Given the description of an element on the screen output the (x, y) to click on. 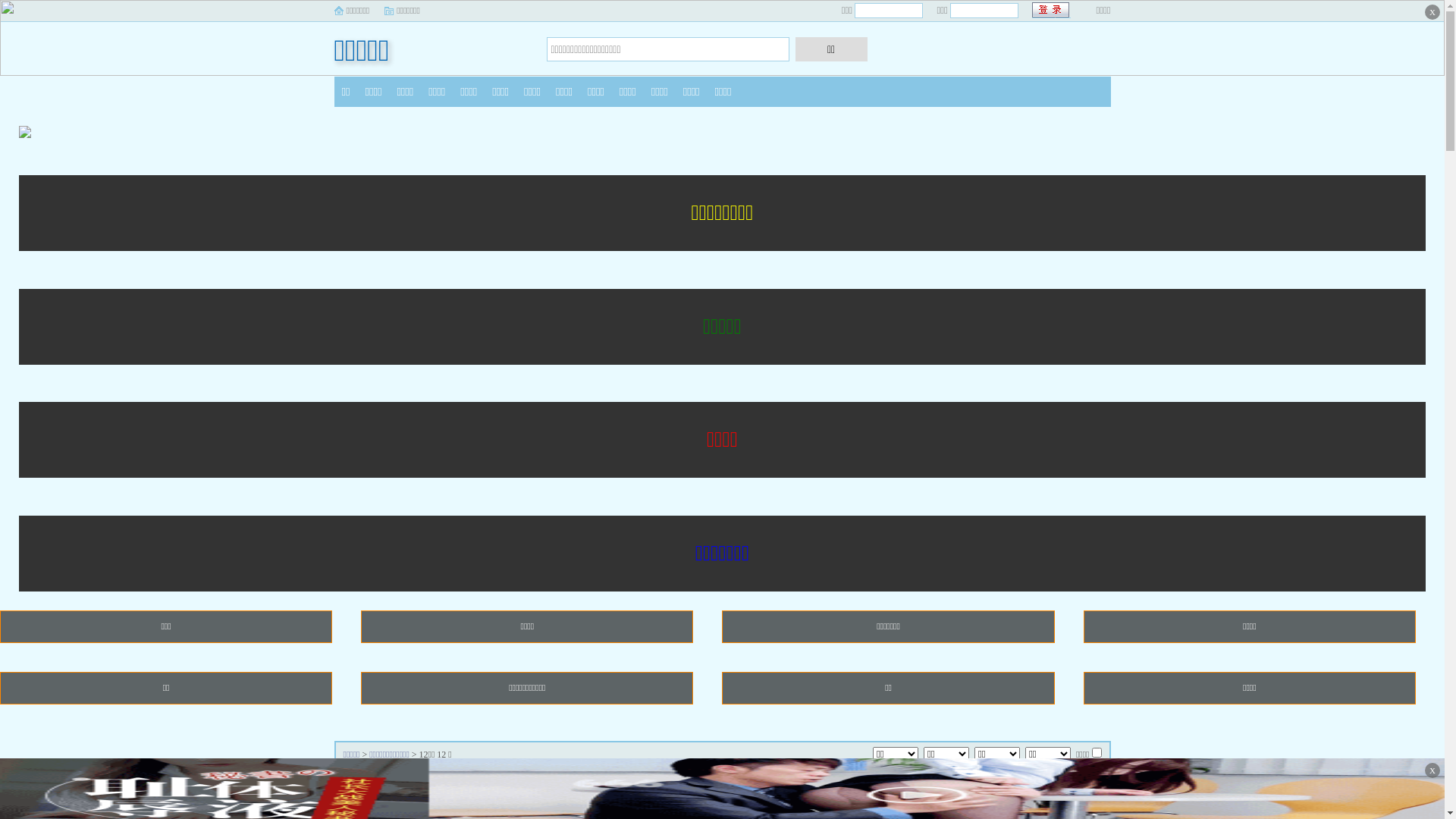
  Element type: text (1051, 10)
X Element type: text (1432, 11)
X Element type: text (1432, 770)
